Given the description of an element on the screen output the (x, y) to click on. 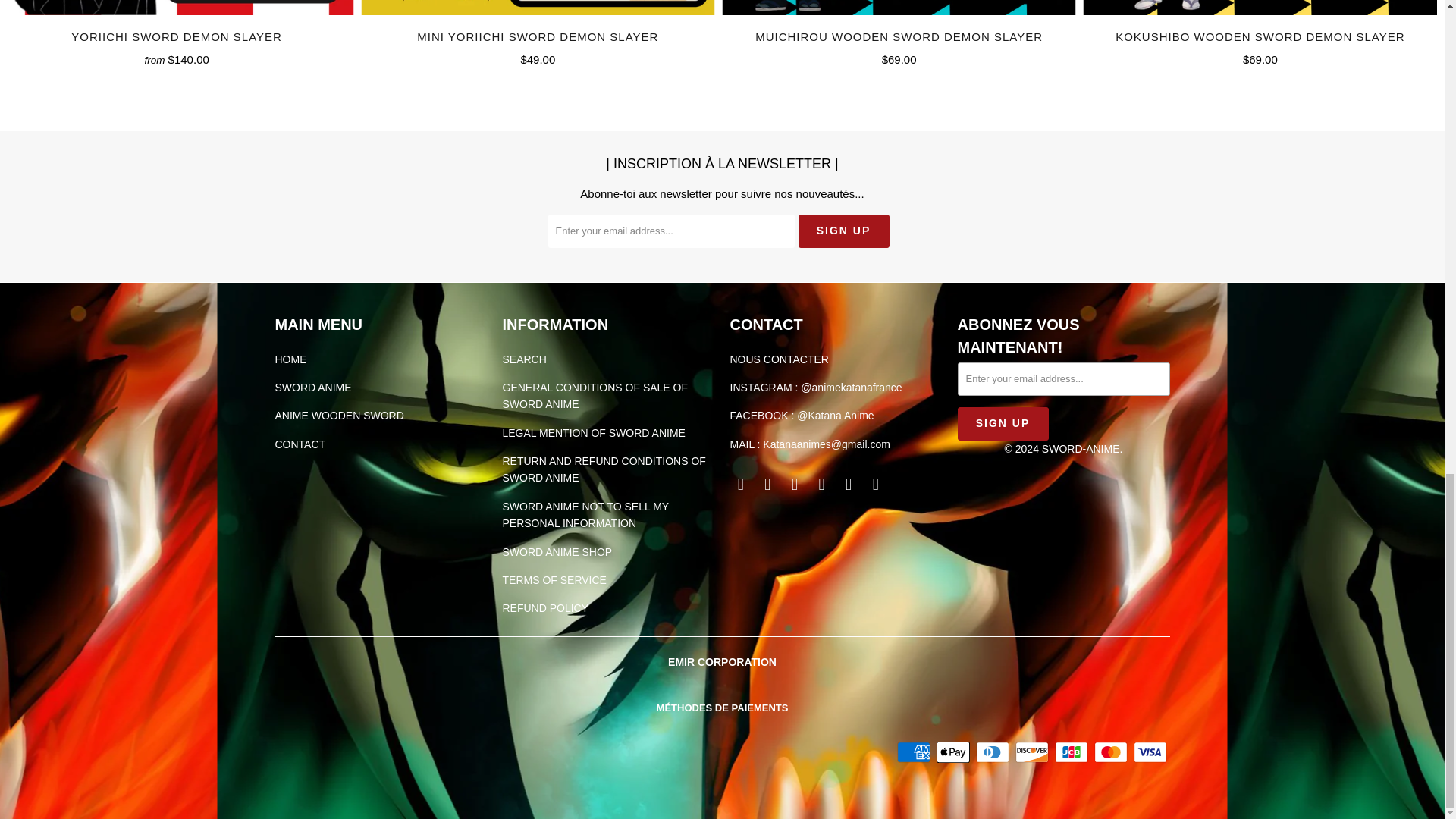
Email sword-anime (875, 484)
Apple Pay (954, 752)
sword-anime on YouTube (767, 484)
JCB (1072, 752)
Sign Up (1002, 423)
Sign Up (842, 231)
Diners Club (993, 752)
sword-anime on Snapchat (849, 484)
sword-anime on Facebook (740, 484)
sword-anime on Instagram (821, 484)
Mastercard (1112, 752)
Visa (1150, 752)
Discover (1032, 752)
sword-anime on Pinterest (795, 484)
American Express (914, 752)
